Given the description of an element on the screen output the (x, y) to click on. 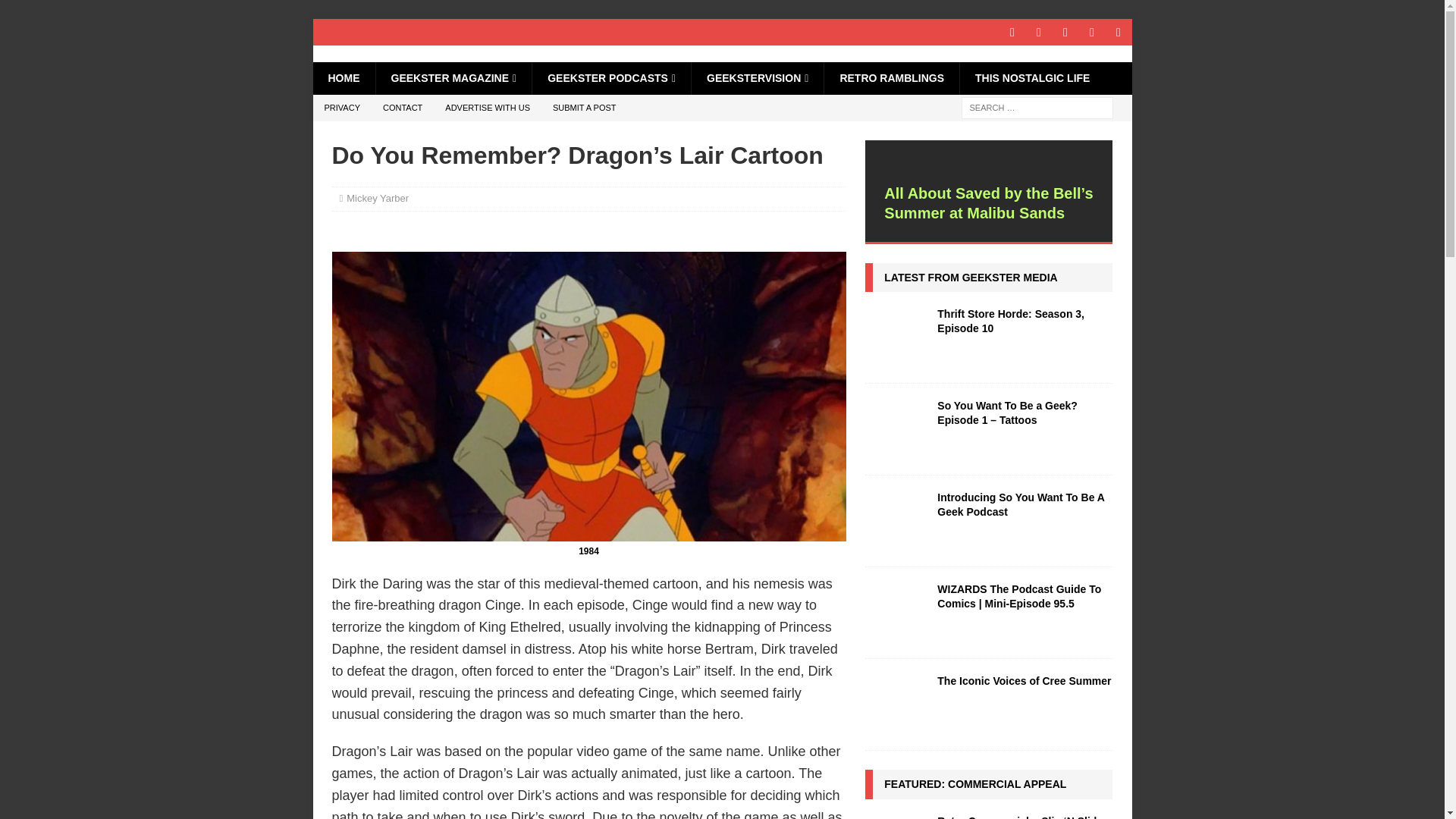
GEEKSTER PODCASTS (610, 78)
The Retro Network (363, 53)
HOME (343, 78)
GEEKSTER MAGAZINE (452, 78)
